Given the description of an element on the screen output the (x, y) to click on. 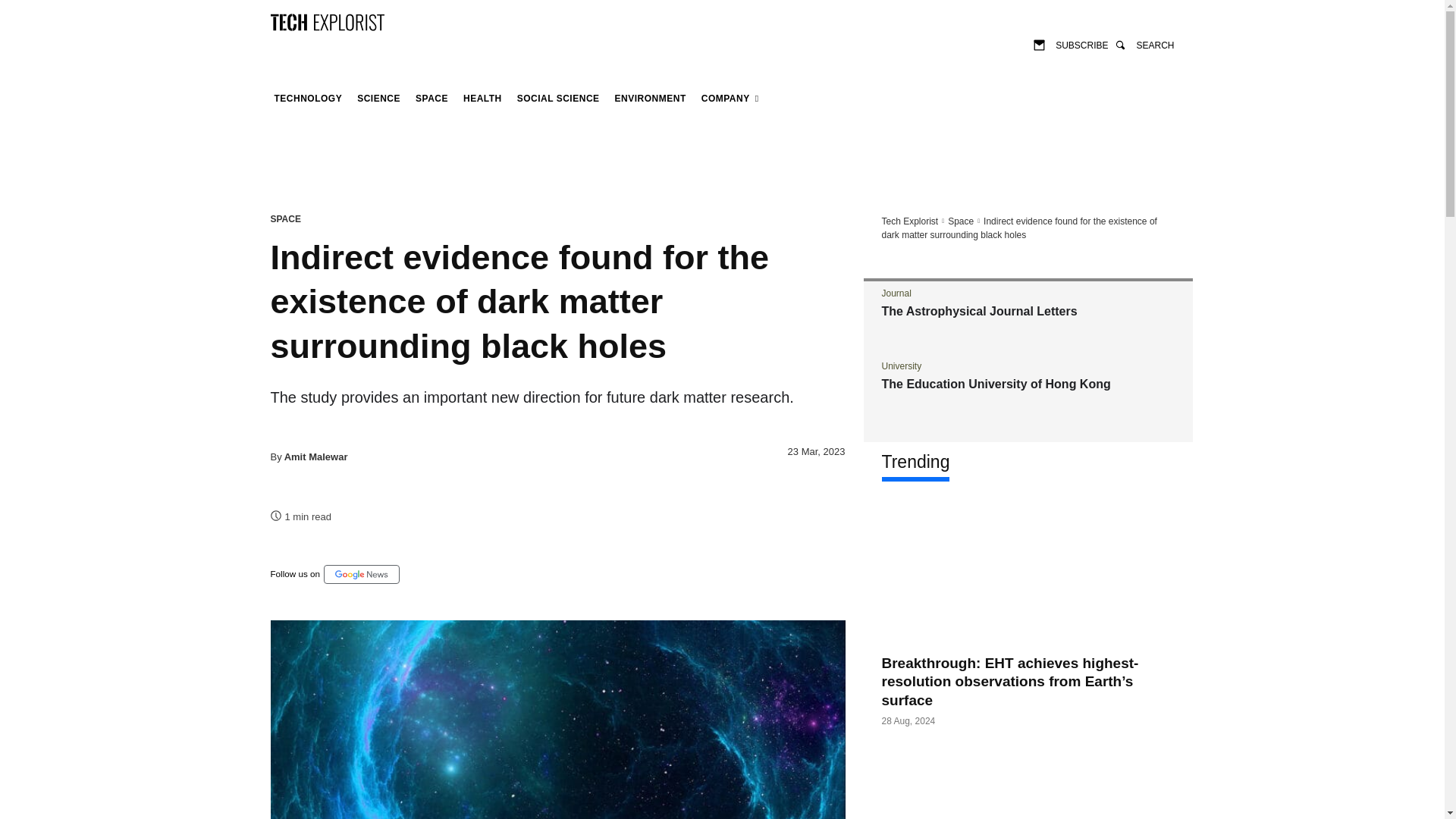
SPACE (431, 98)
Technology (307, 98)
HEALTH (482, 98)
SOCIAL SCIENCE (558, 98)
Amit Malewar (315, 456)
Health (482, 98)
COMPANY (729, 98)
SCIENCE (378, 98)
SEARCH (1144, 44)
SEARCH (1144, 44)
